Given the description of an element on the screen output the (x, y) to click on. 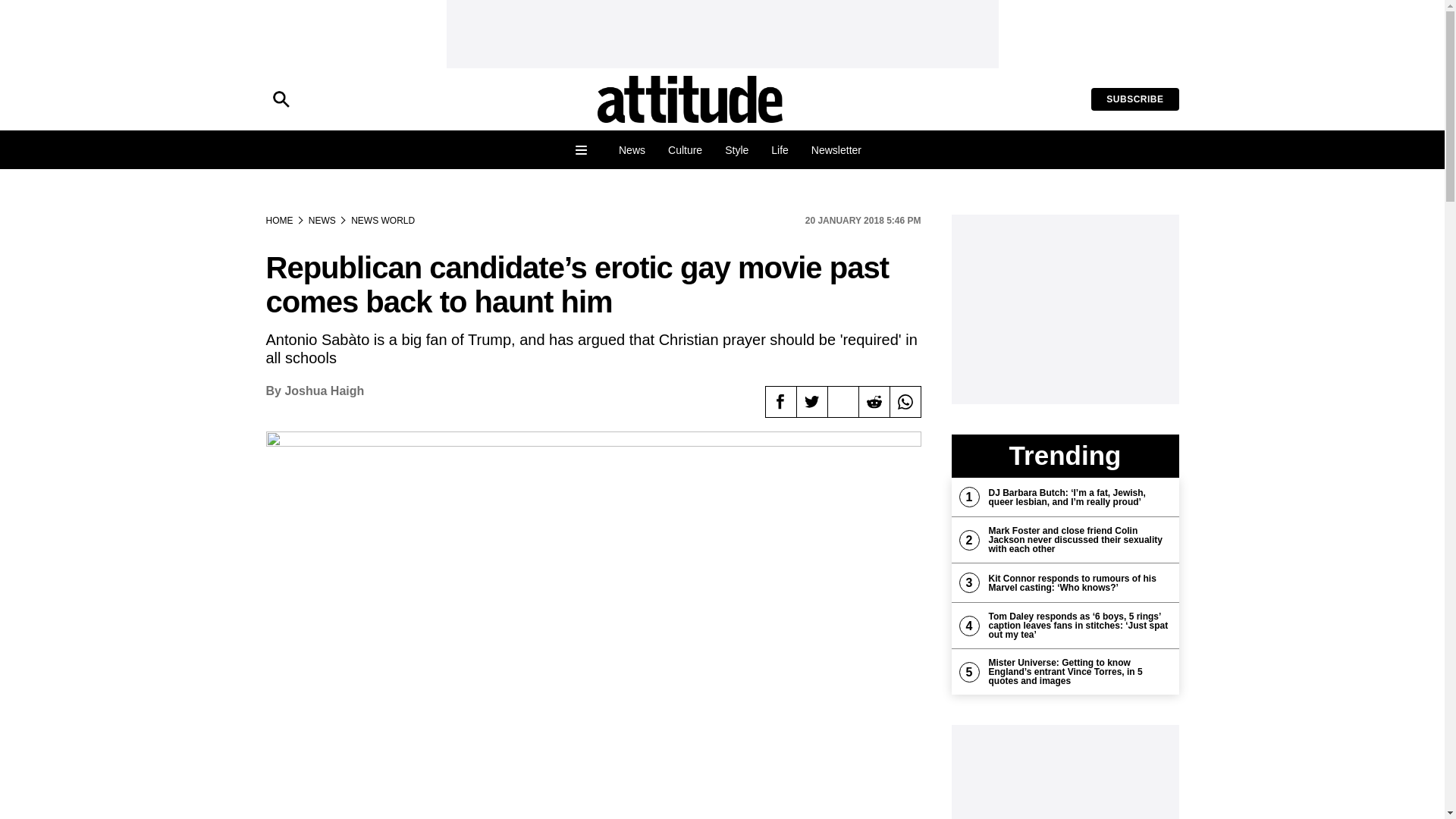
Skip to main content (61, 10)
Life (779, 150)
News (631, 150)
Home (689, 99)
Style (736, 150)
SUBSCRIBE (1134, 99)
Newsletter (835, 150)
Culture (684, 150)
